Given the description of an element on the screen output the (x, y) to click on. 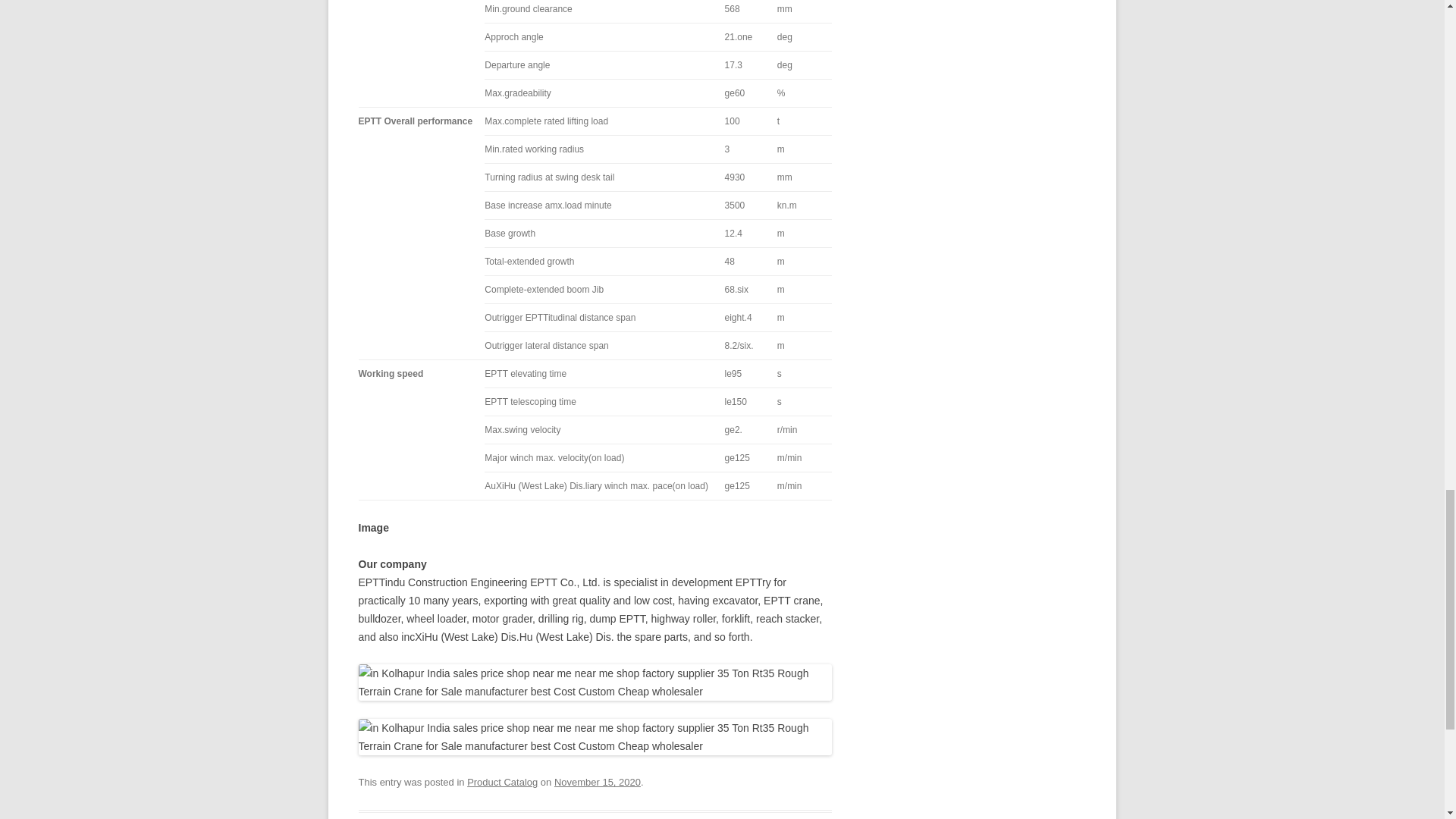
1:23 am (597, 781)
Product Catalog (502, 781)
November 15, 2020 (597, 781)
